Given the description of an element on the screen output the (x, y) to click on. 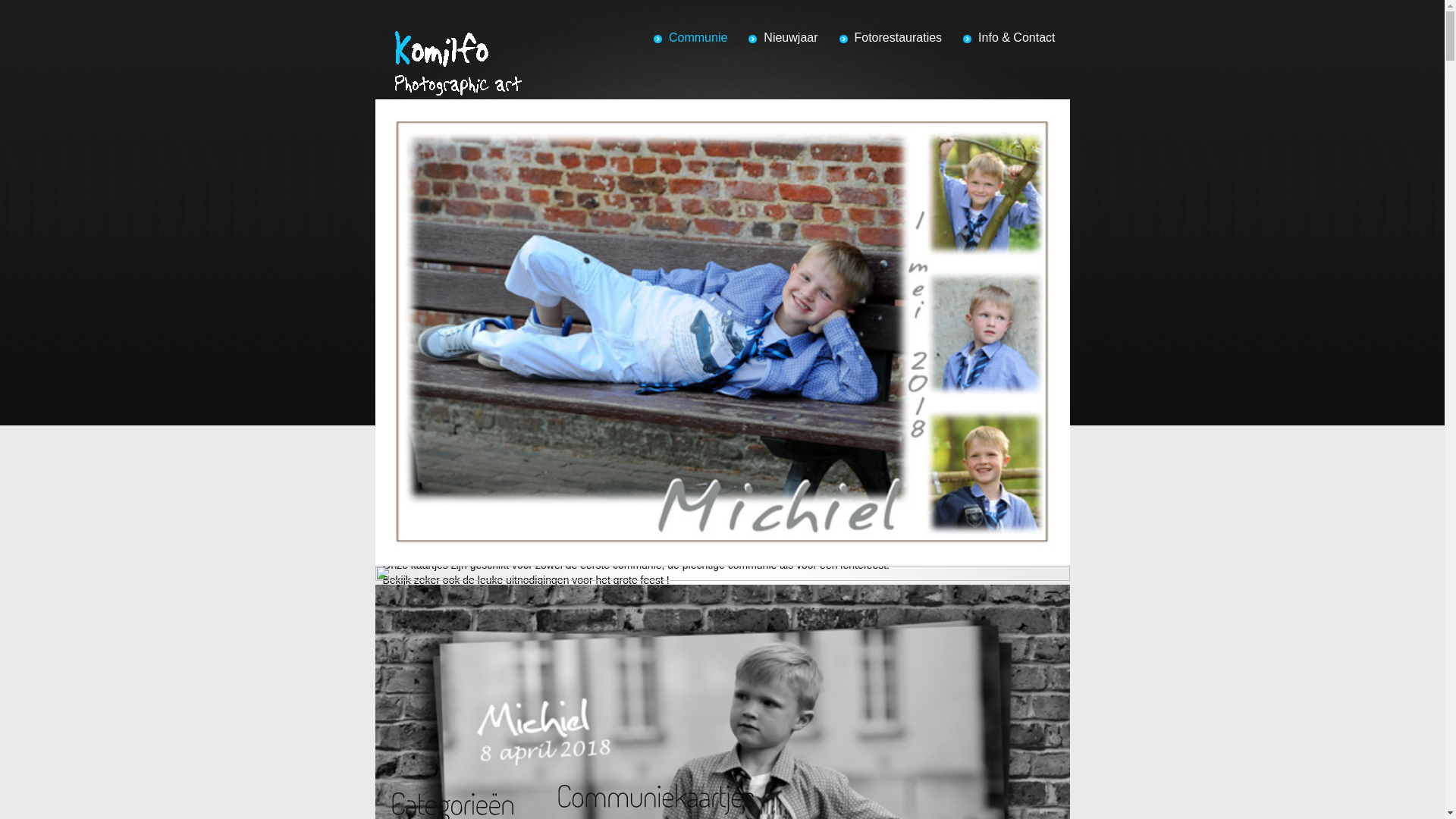
Info & Contact Element type: text (1008, 37)
Fotorestauraties Element type: text (889, 37)
Nieuwjaar Element type: text (782, 37)
Communie Element type: text (690, 37)
